Given the description of an element on the screen output the (x, y) to click on. 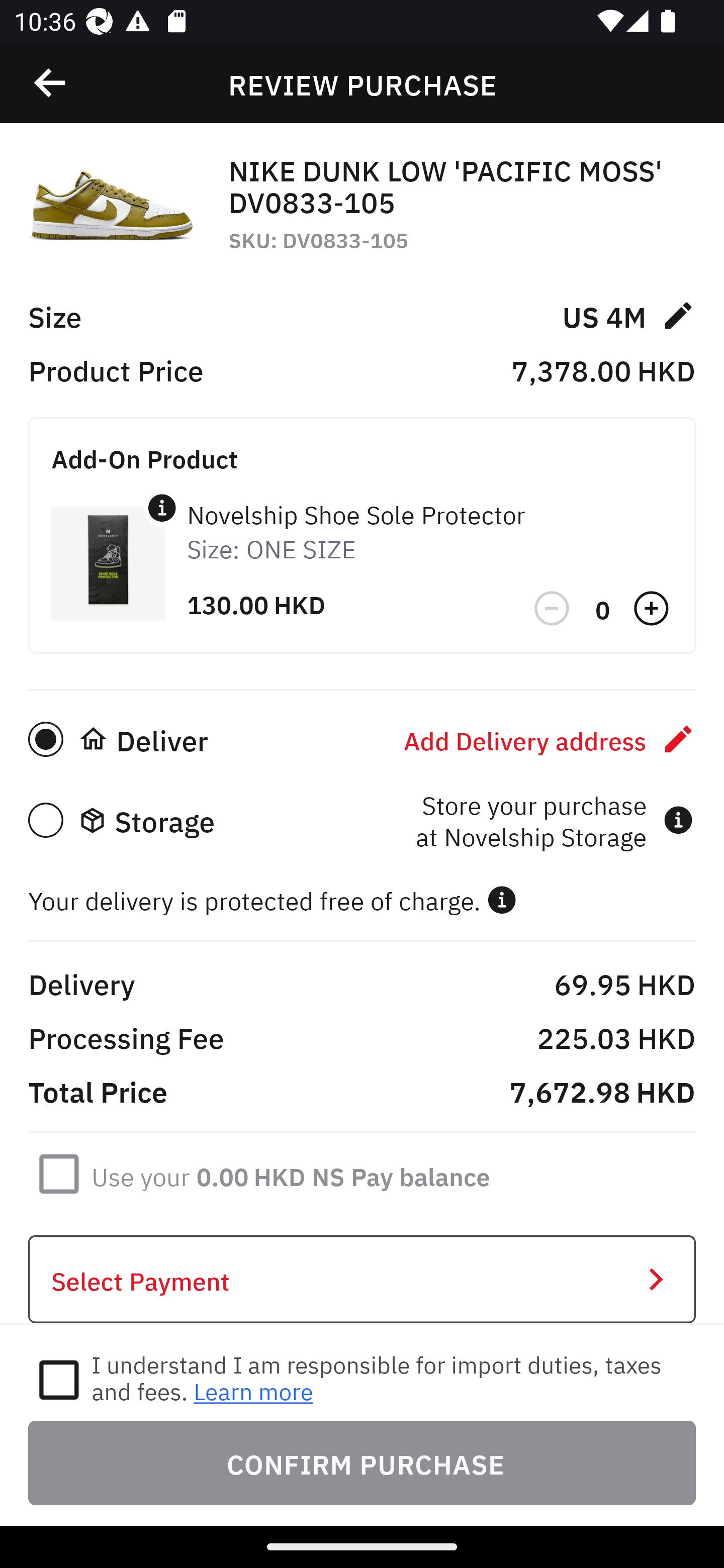
 (50, 83)
US 4M 󰏫 (628, 314)
 (162, 507)
 (553, 608)
 (652, 608)
󰚡 Deliver Add Delivery address 󰏫 (361, 739)
Add Delivery address 󰏫 (549, 739)
Store your purchase
at Novelship Storage  (554, 819)
 (501, 899)
Use your 0.00 HKD NS Pay balance (290, 1173)
Select Payment  (361, 1279)
 CONFIRM PURCHASE (361, 1462)
